Given the description of an element on the screen output the (x, y) to click on. 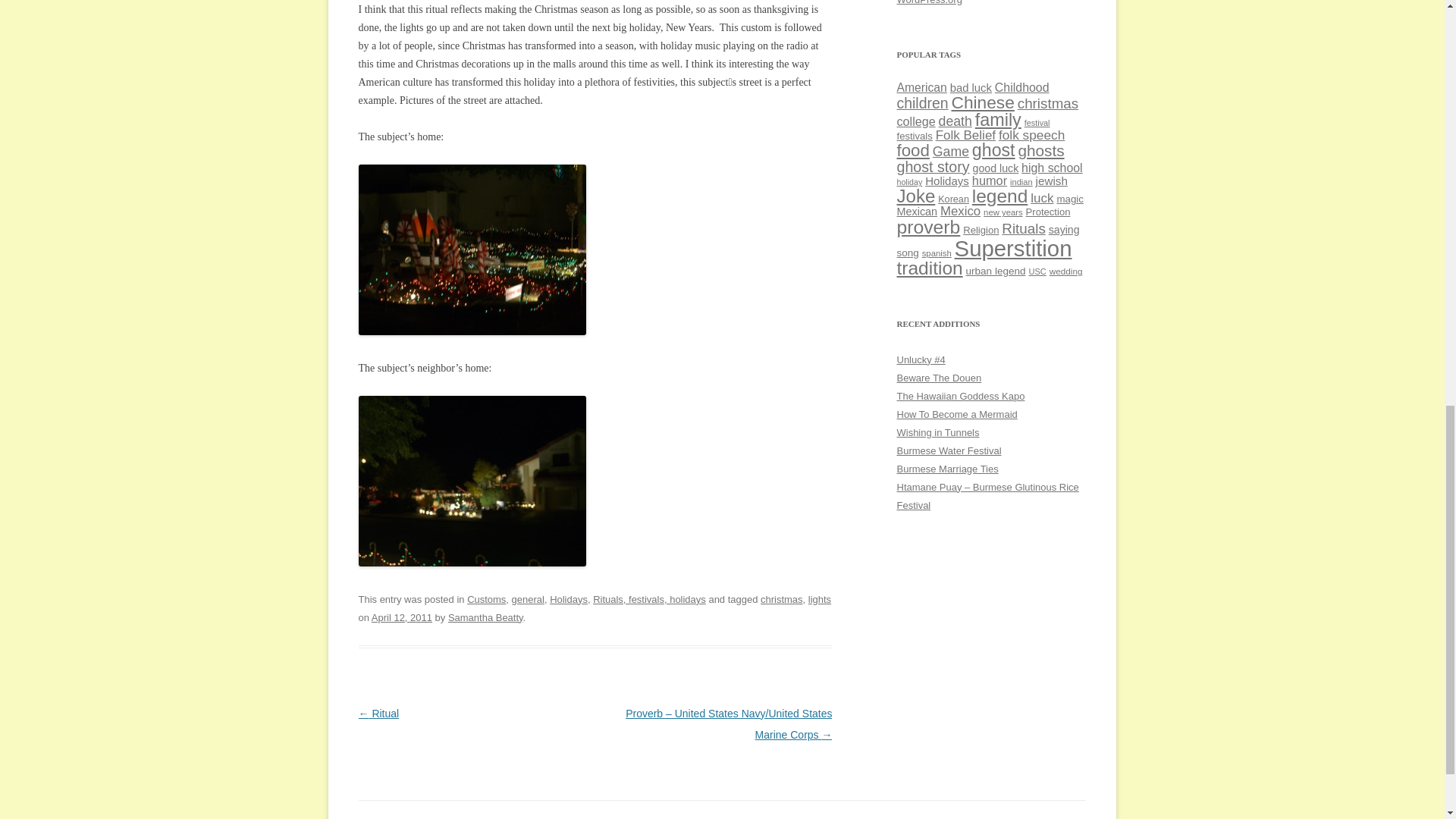
general (528, 599)
View all posts by Samantha Beatty (485, 617)
Rituals, festivals, holidays (649, 599)
family (998, 119)
Childhood (1021, 87)
children (921, 103)
Game (951, 151)
Chinese (981, 102)
Folk Belief (965, 134)
Customs (486, 599)
Holidays (569, 599)
April 12, 2011 (401, 617)
christmas (1047, 103)
folk speech (1031, 134)
festivals (913, 135)
